Given the description of an element on the screen output the (x, y) to click on. 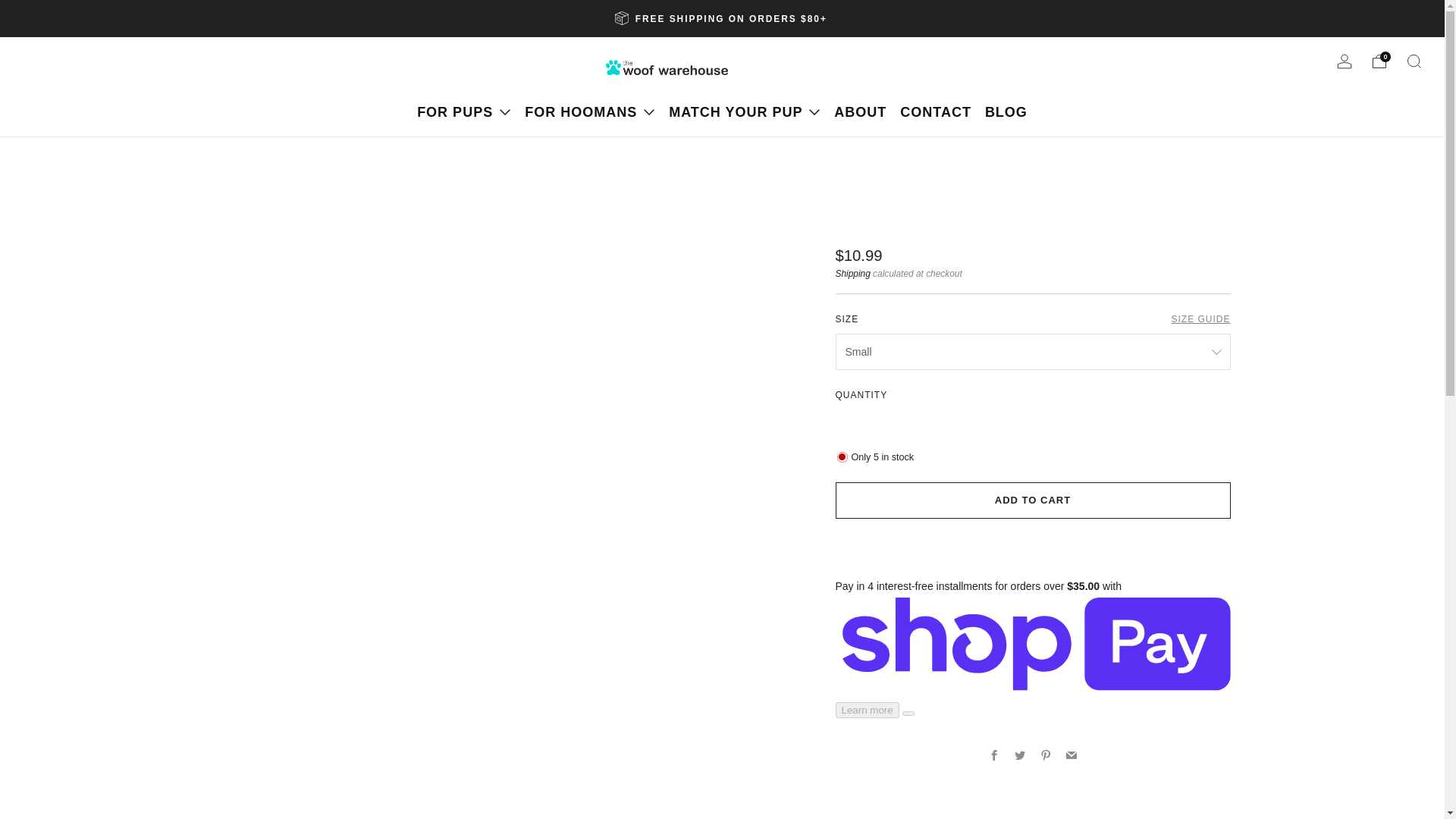
FOR PUPS (463, 111)
CONTACT (935, 111)
FOR HOOMANS (589, 111)
MATCH YOUR PUP (744, 111)
ABOUT (860, 111)
